Given the description of an element on the screen output the (x, y) to click on. 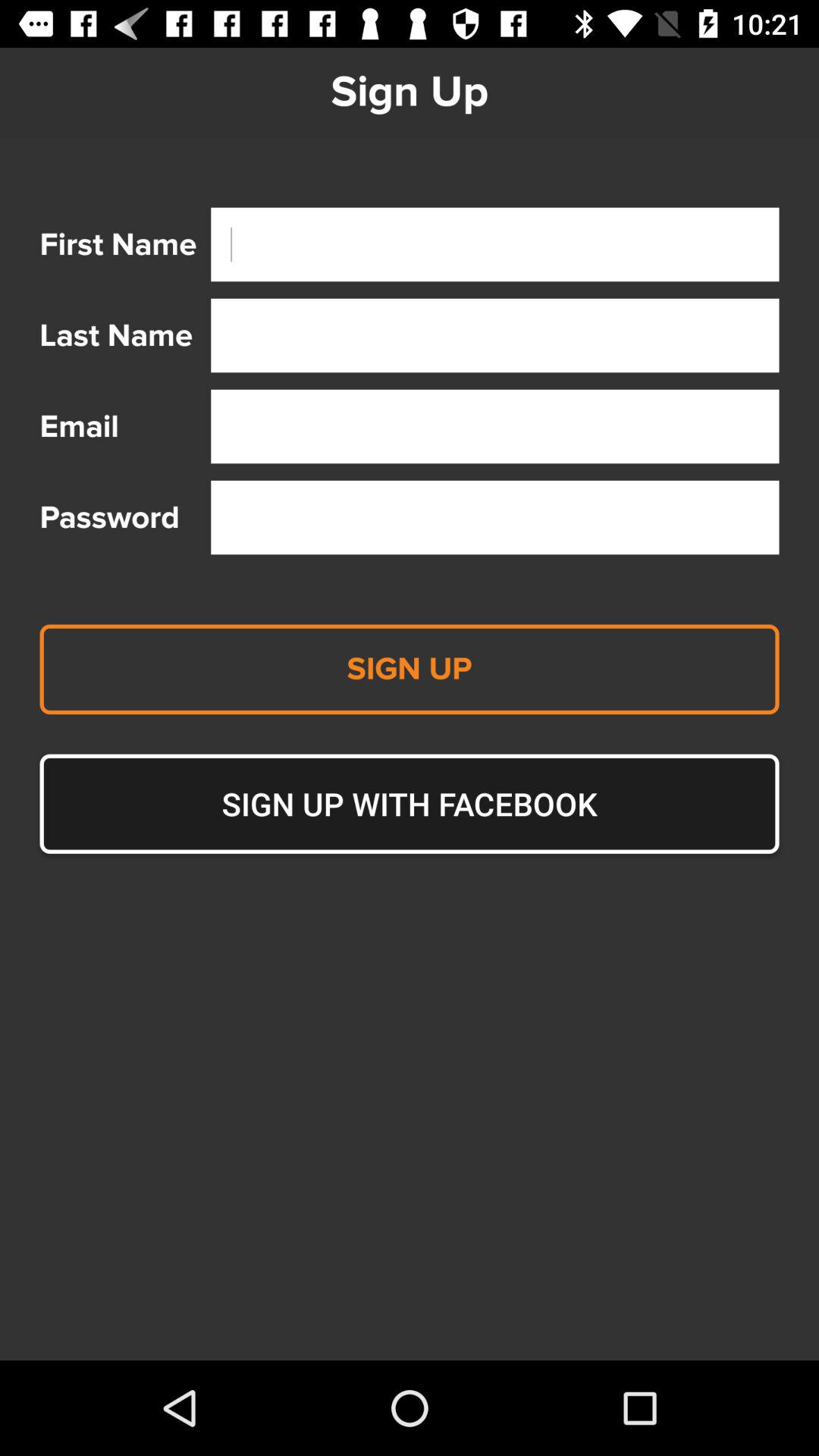
open icon to the right of the password item (495, 517)
